Given the description of an element on the screen output the (x, y) to click on. 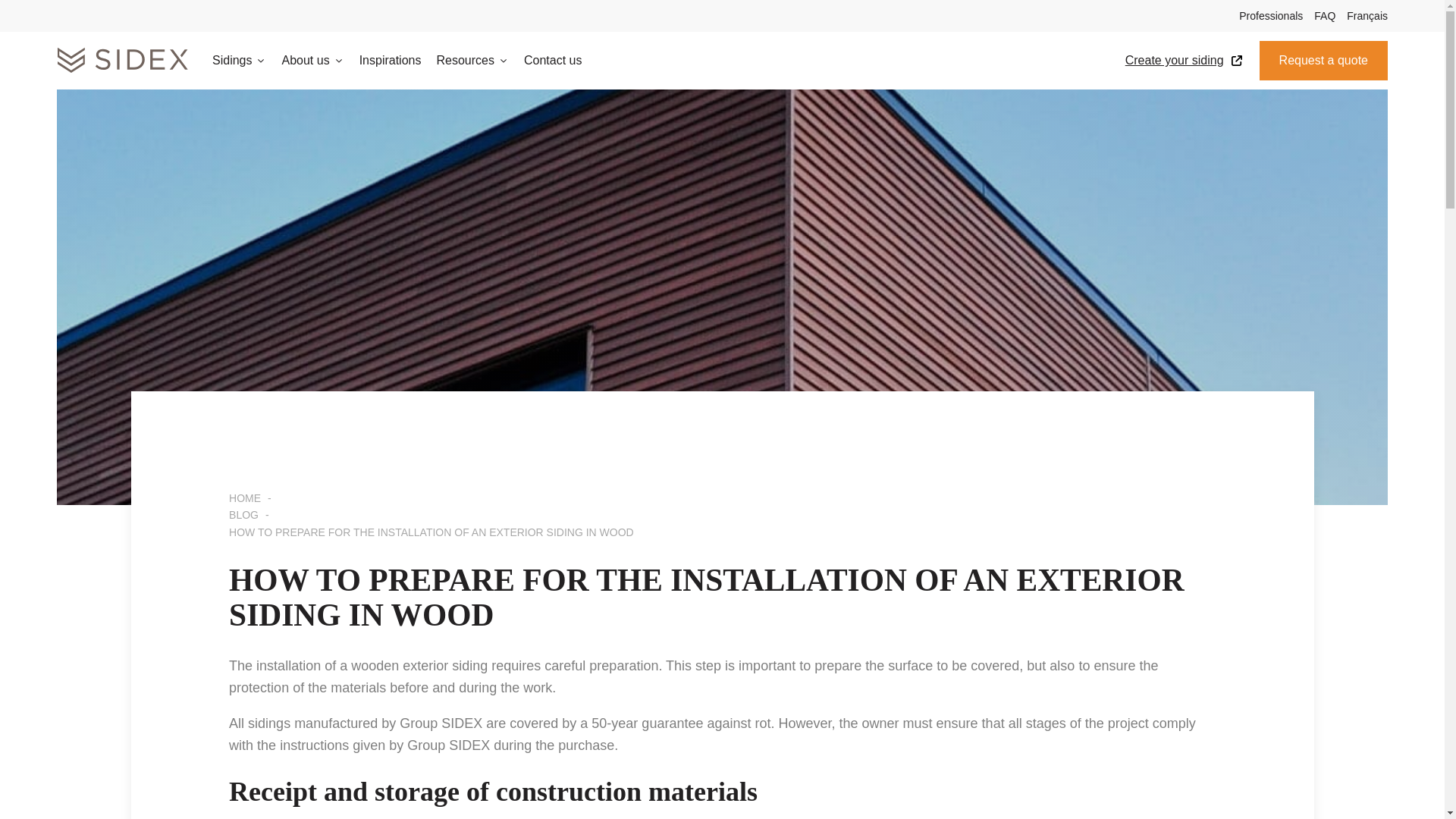
Create your siding (1186, 60)
Resources (478, 60)
Inspirations (397, 60)
FAQ (1319, 15)
Contact us (560, 60)
HOME (244, 498)
About us (319, 60)
Sidings (246, 60)
Professionals (1265, 15)
BLOG (243, 514)
